Given the description of an element on the screen output the (x, y) to click on. 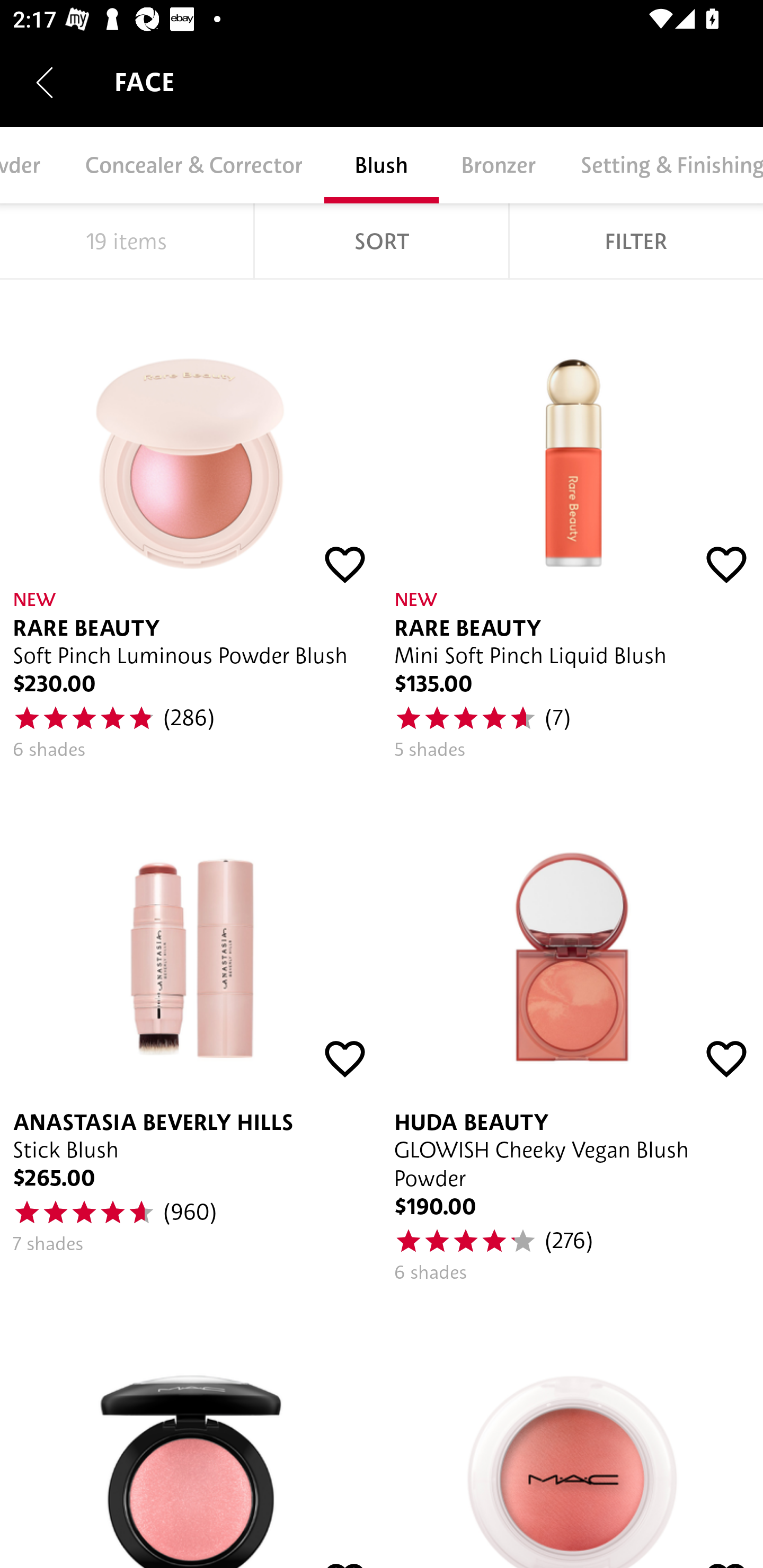
Navigate up (44, 82)
Concealer & Corrector (193, 165)
Bronzer (497, 165)
Setting & Finishing Spray (660, 165)
SORT (381, 241)
FILTER (636, 241)
